Given the description of an element on the screen output the (x, y) to click on. 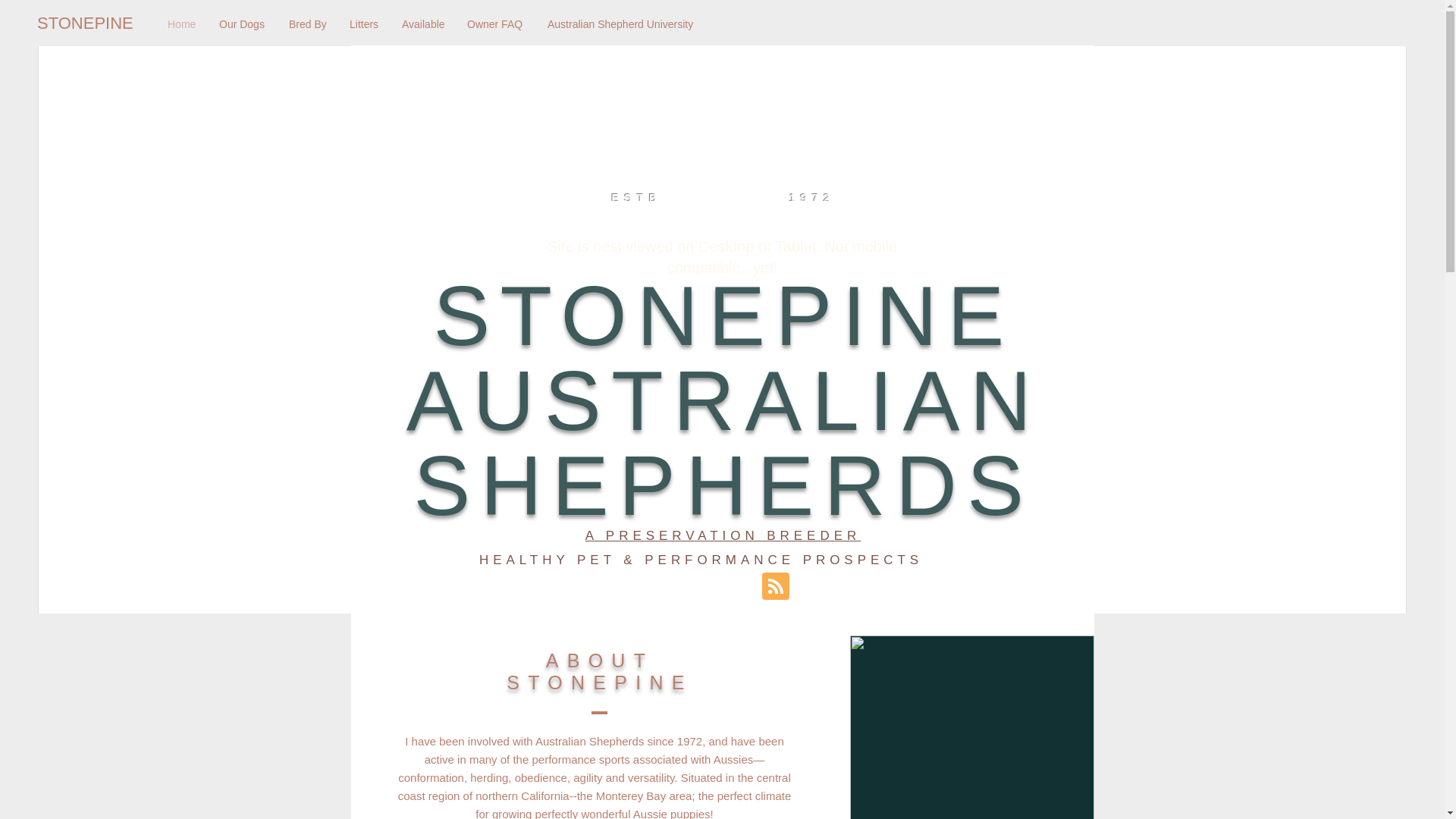
Available (422, 24)
Our Dogs (243, 24)
Litters (363, 24)
Australian Shepherd University (619, 24)
Bred By (307, 24)
A PRESERVATION BREEDER (722, 535)
Home (181, 24)
Owner FAQ (495, 24)
STONEPINE (88, 23)
